Given the description of an element on the screen output the (x, y) to click on. 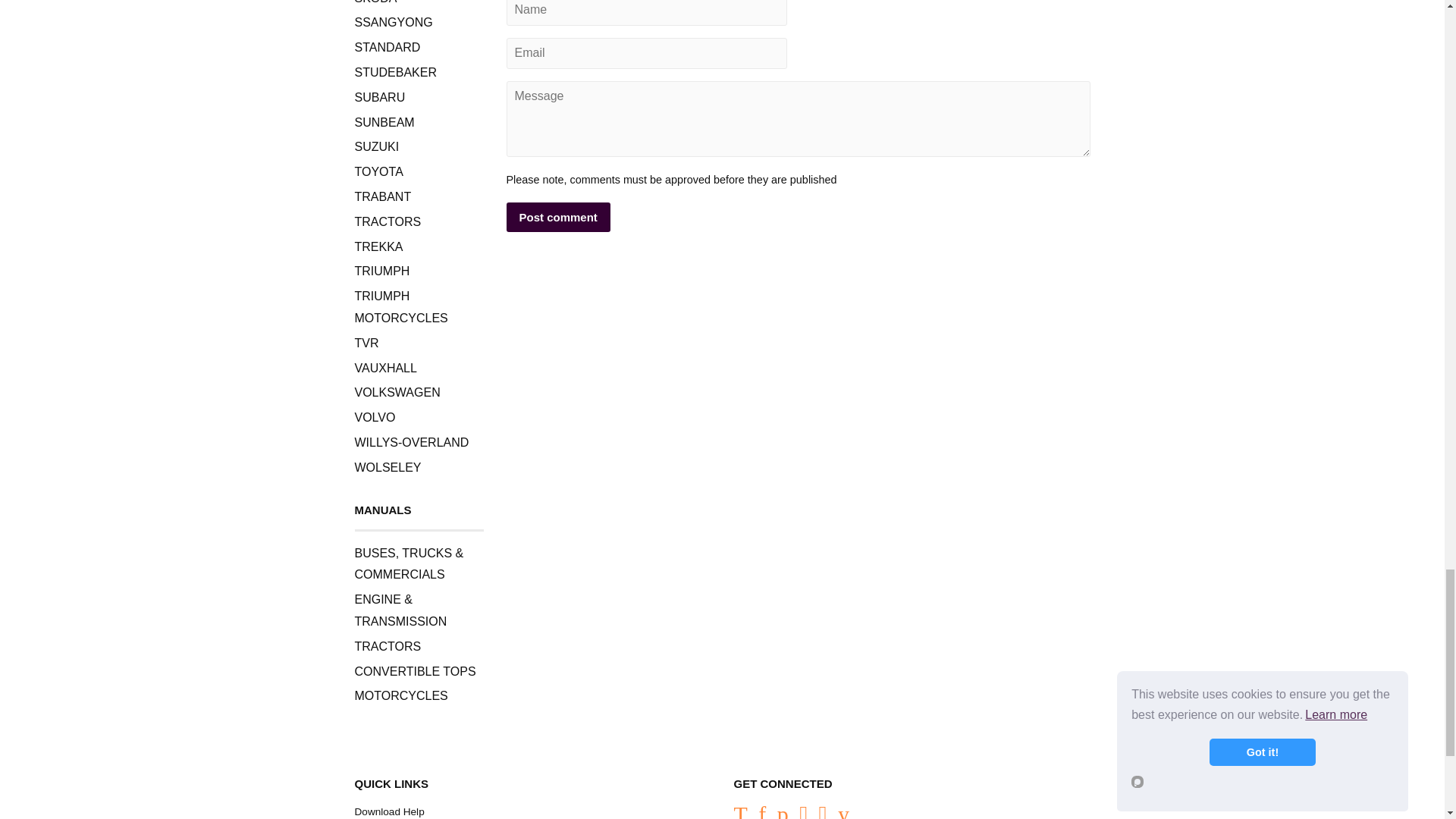
Post comment (558, 216)
Car Manuals Direct on Pinterest (783, 813)
Car Manuals Direct on Twitter (740, 813)
Car Manuals Direct on YouTube (843, 813)
